Given the description of an element on the screen output the (x, y) to click on. 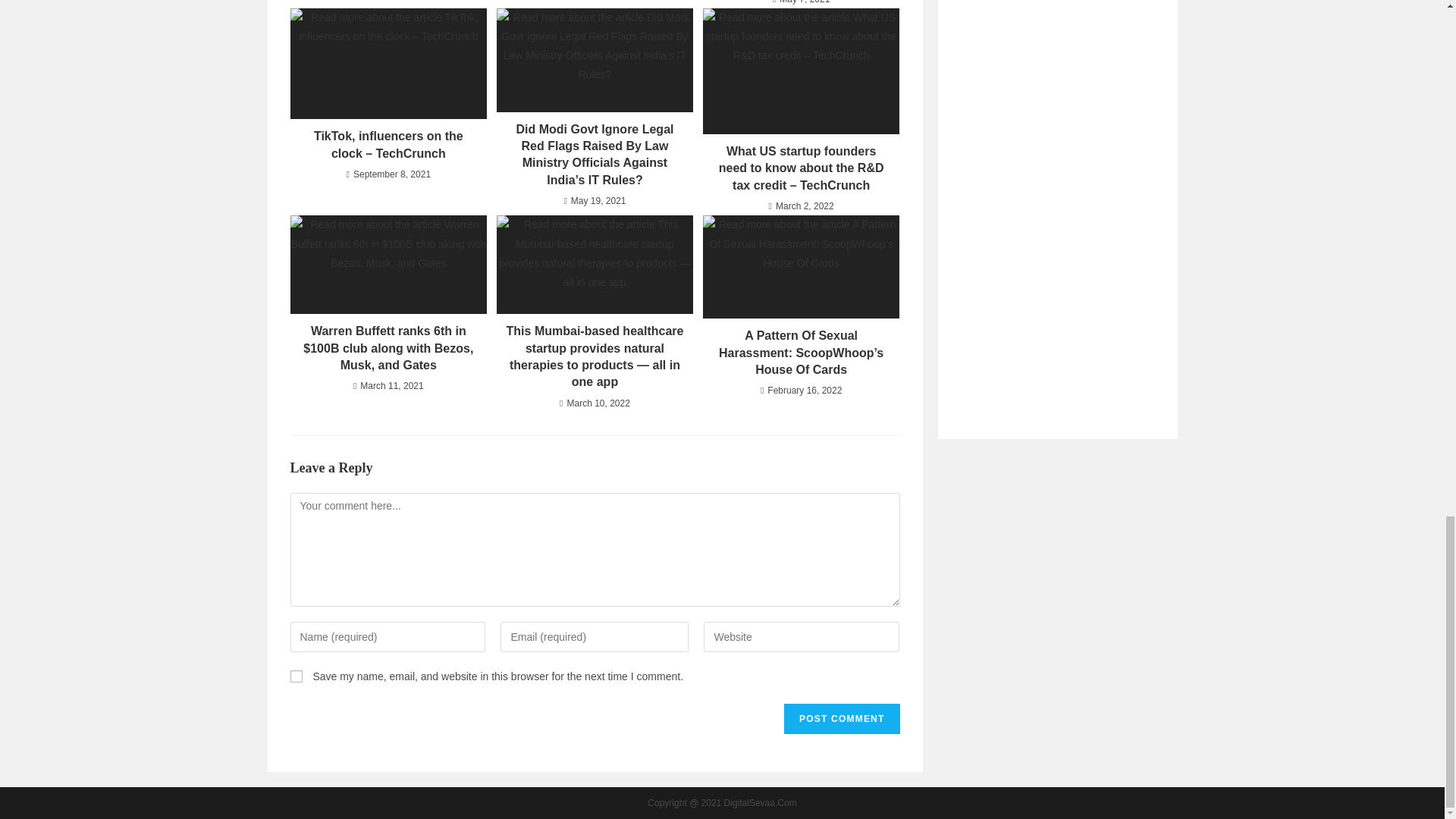
Post Comment (841, 718)
yes (295, 676)
Post Comment (841, 718)
